Given the description of an element on the screen output the (x, y) to click on. 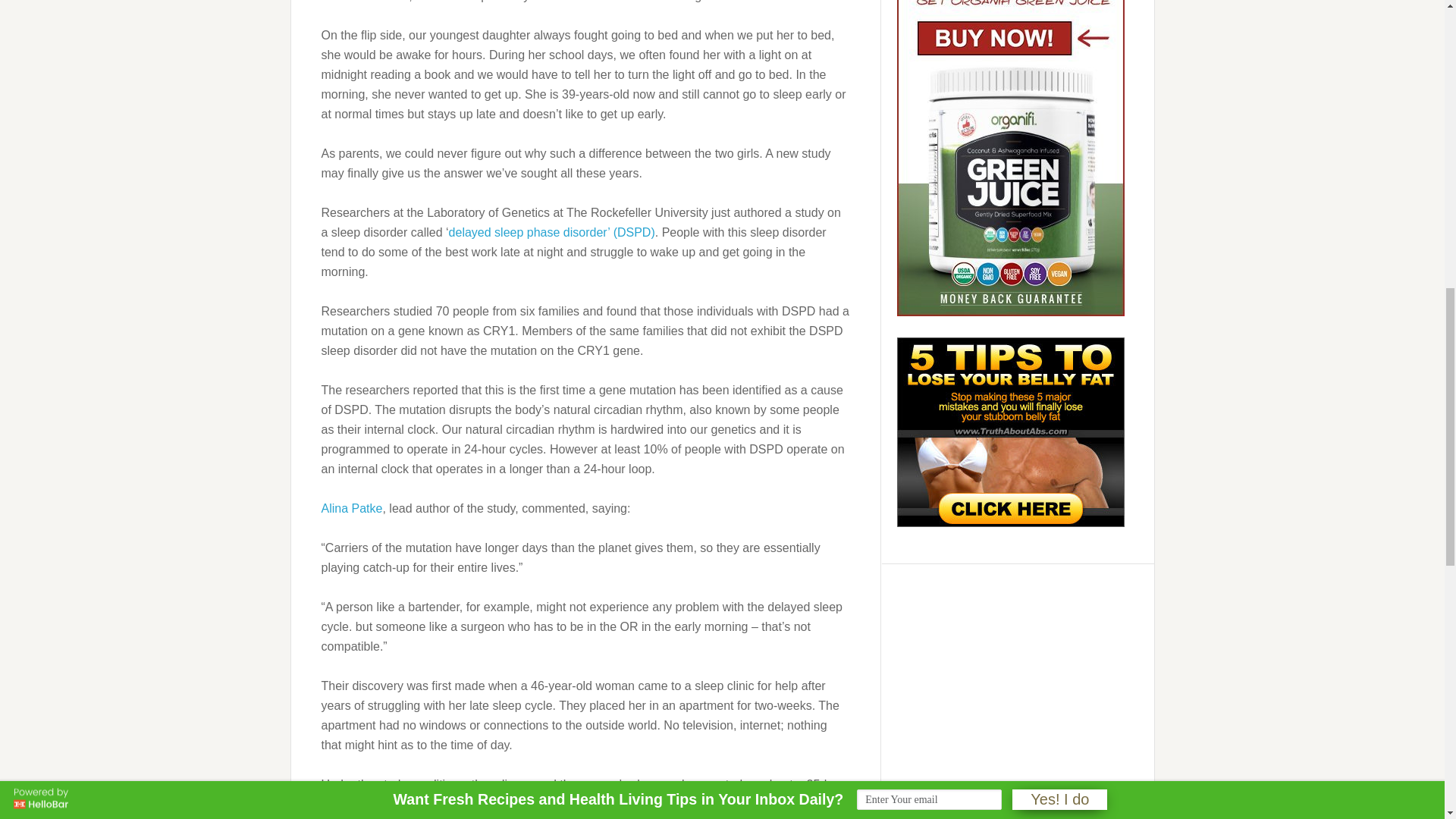
Alina Patke (351, 508)
